Given the description of an element on the screen output the (x, y) to click on. 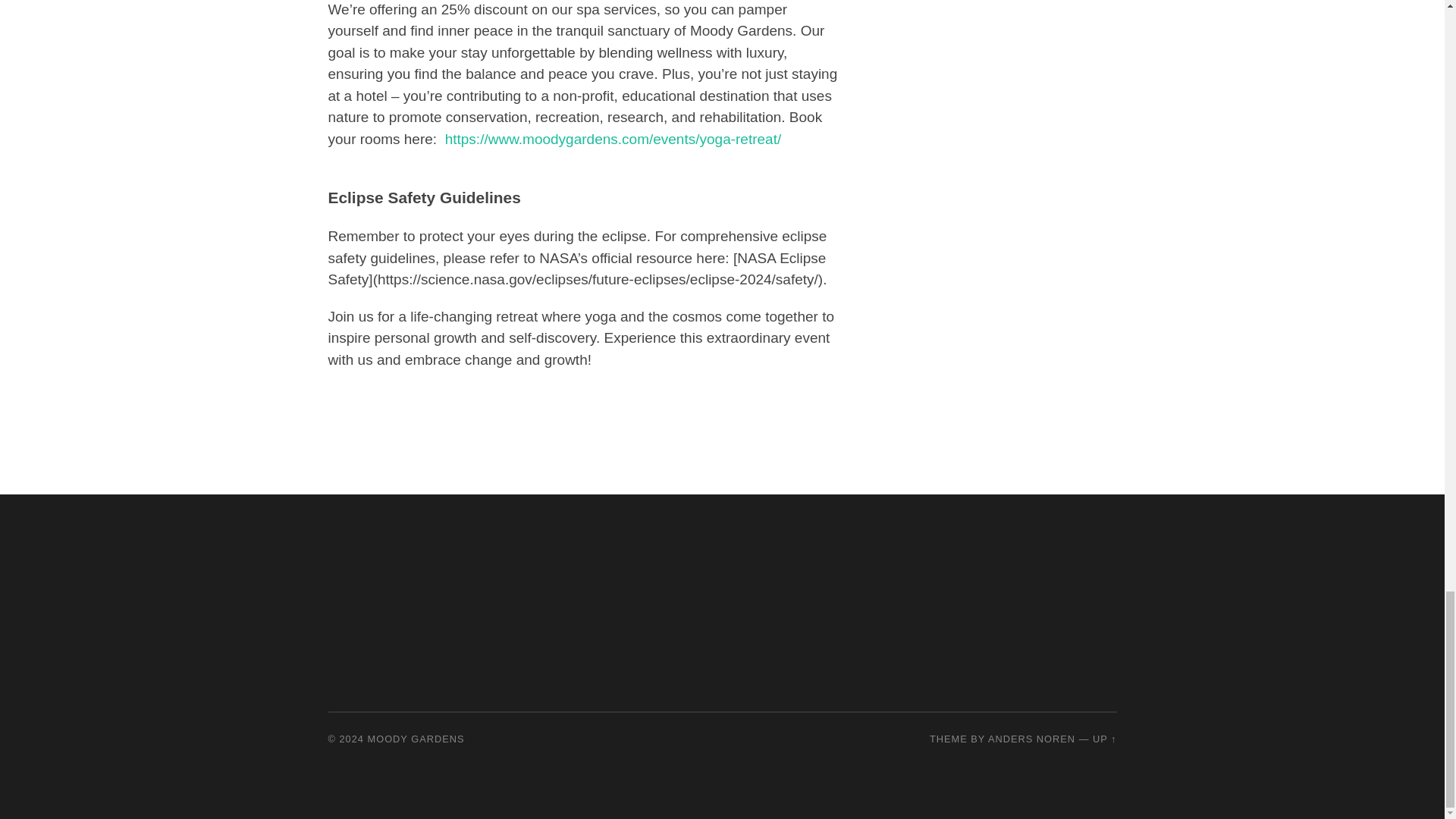
ANDERS NOREN (1031, 738)
To the top (1104, 738)
MOODY GARDENS (416, 738)
